Given the description of an element on the screen output the (x, y) to click on. 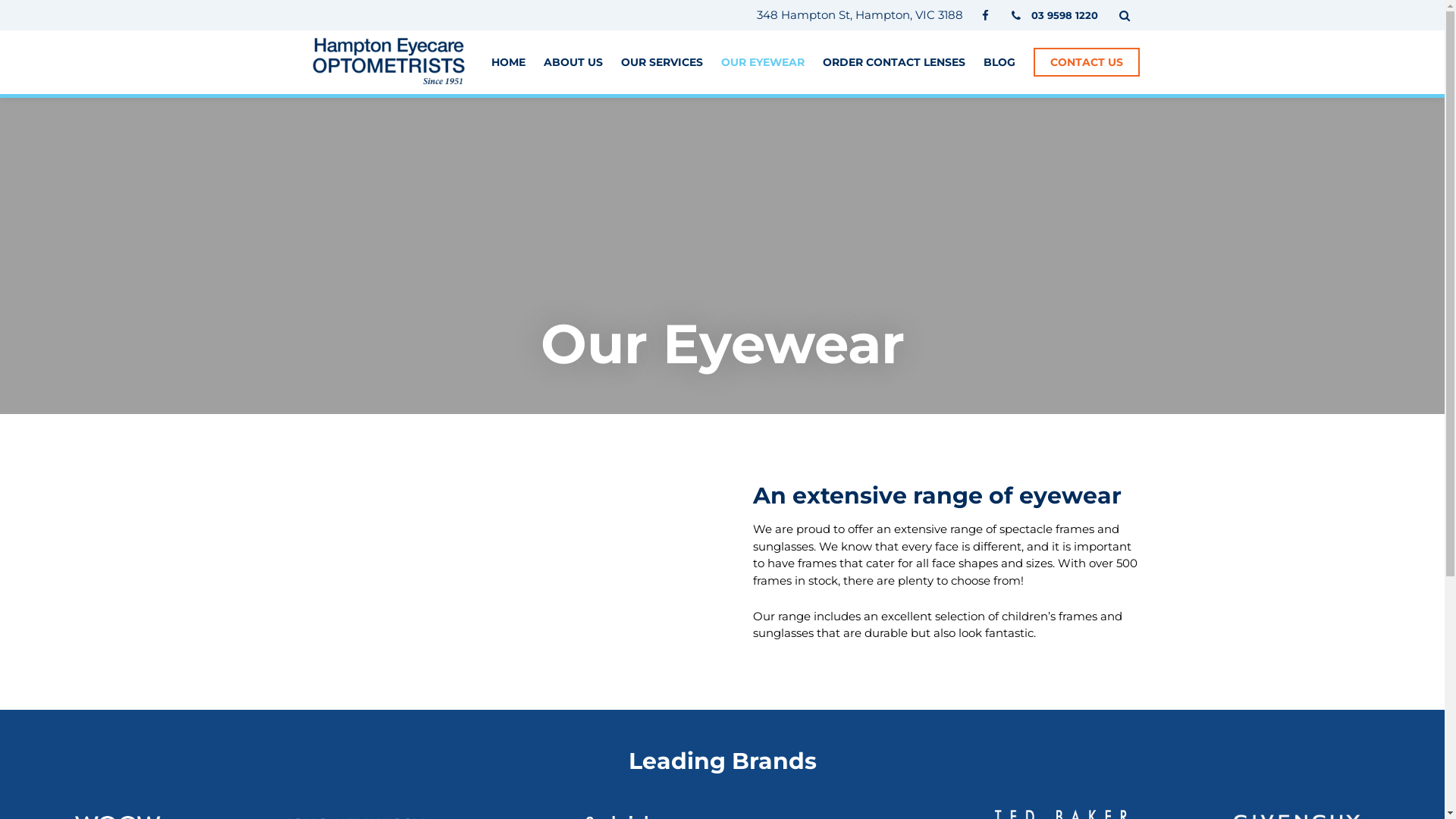
03 9598 1220 Element type: text (1055, 15)
BLOG Element type: text (998, 62)
ABOUT US Element type: text (572, 62)
ORDER CONTACT LENSES Element type: text (893, 62)
CONTACT US Element type: text (1085, 61)
HOME Element type: text (508, 62)
OUR EYEWEAR Element type: text (761, 62)
OUR SERVICES Element type: text (660, 62)
